Given the description of an element on the screen output the (x, y) to click on. 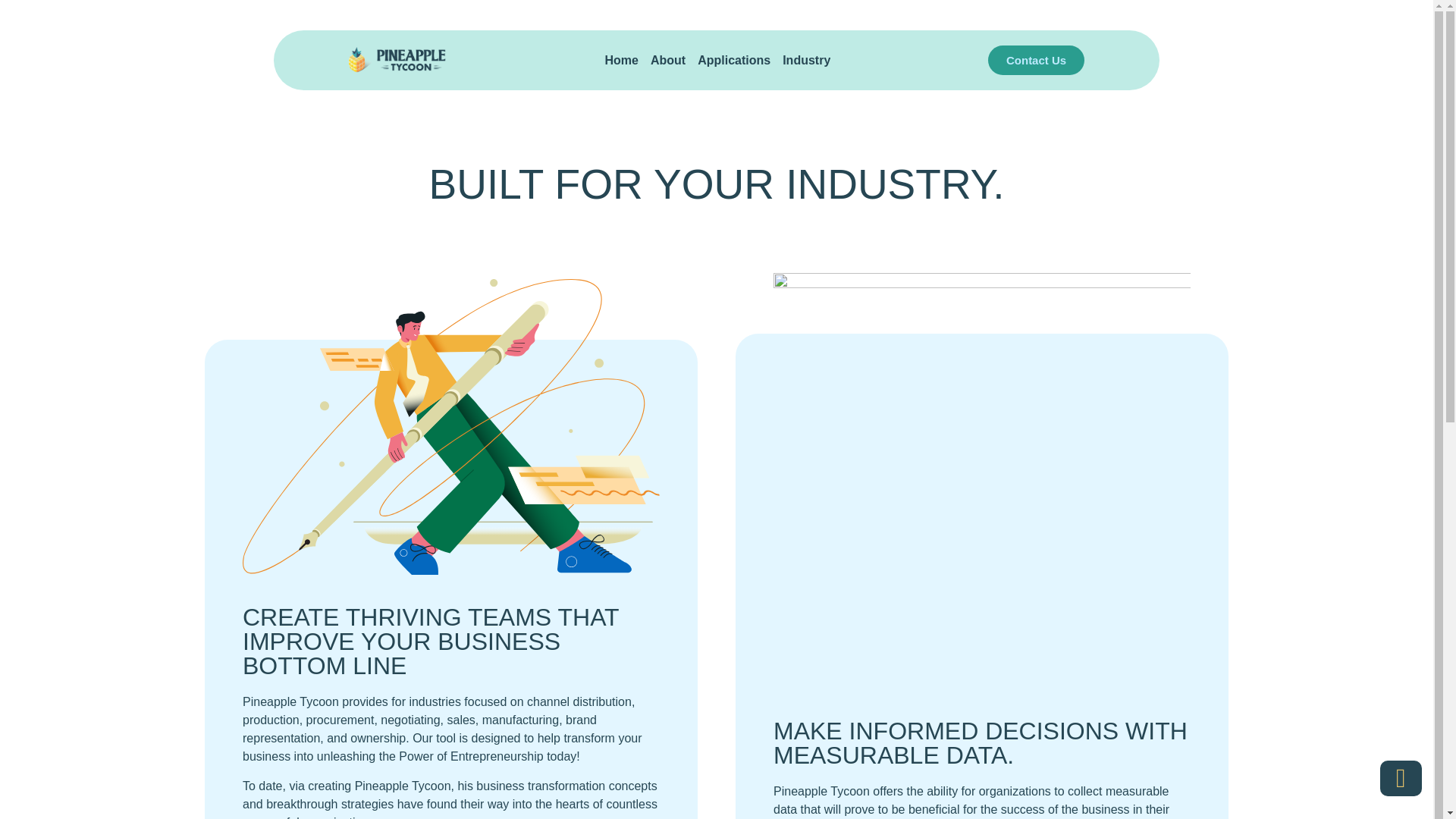
About (667, 60)
Industry (806, 60)
Home (622, 60)
Applications (733, 60)
Contact Us (1036, 60)
